Given the description of an element on the screen output the (x, y) to click on. 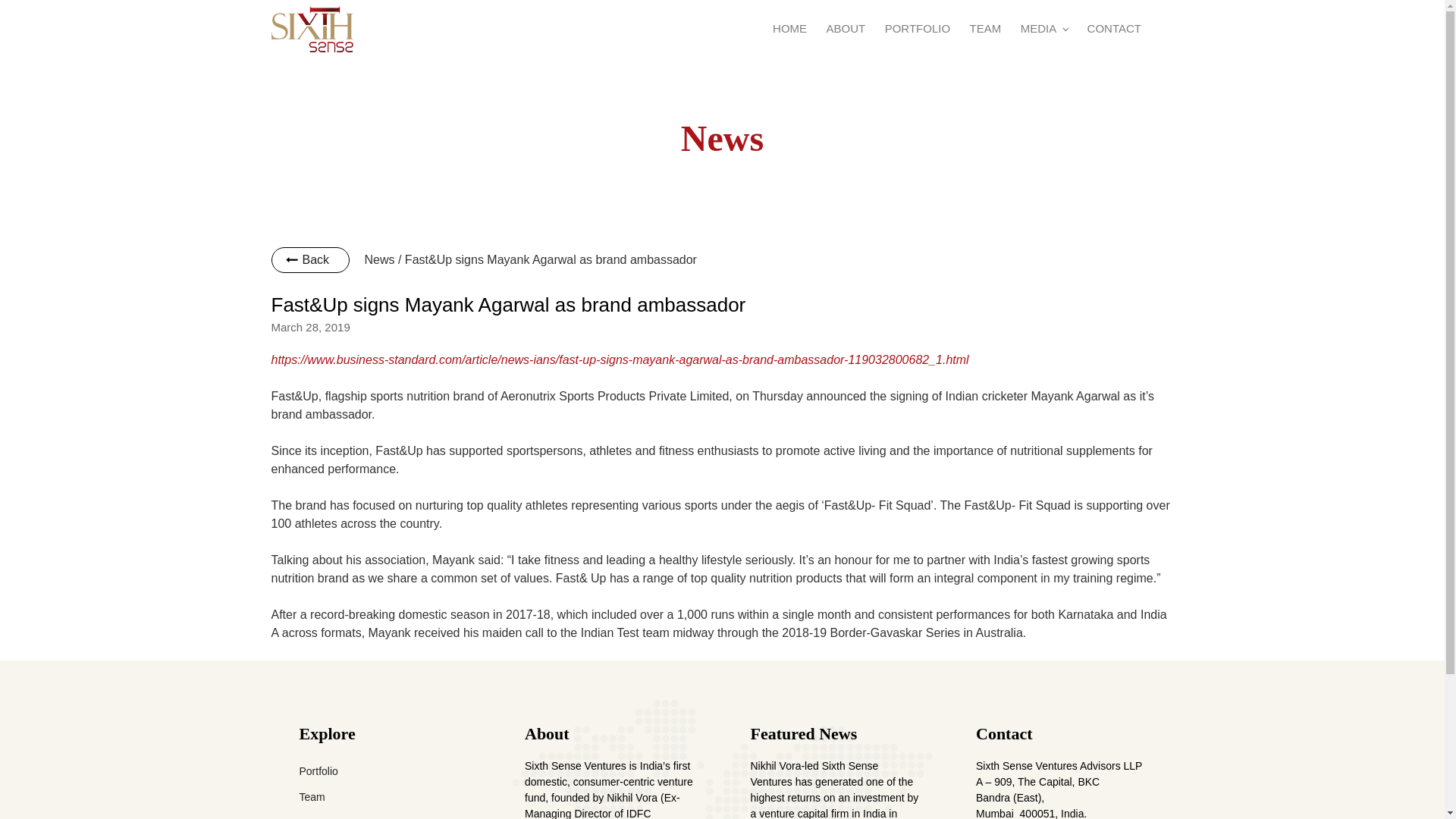
SIXTH SENSE (373, 76)
Featured News (804, 732)
TEAM (984, 29)
PORTFOLIO (917, 29)
Contact (1003, 732)
HOME (790, 29)
Team (311, 797)
Portfolio (317, 770)
News (311, 817)
Back (310, 259)
ABOUT (845, 29)
MEDIA (1043, 29)
CONTACT (1113, 29)
About (546, 732)
